Given the description of an element on the screen output the (x, y) to click on. 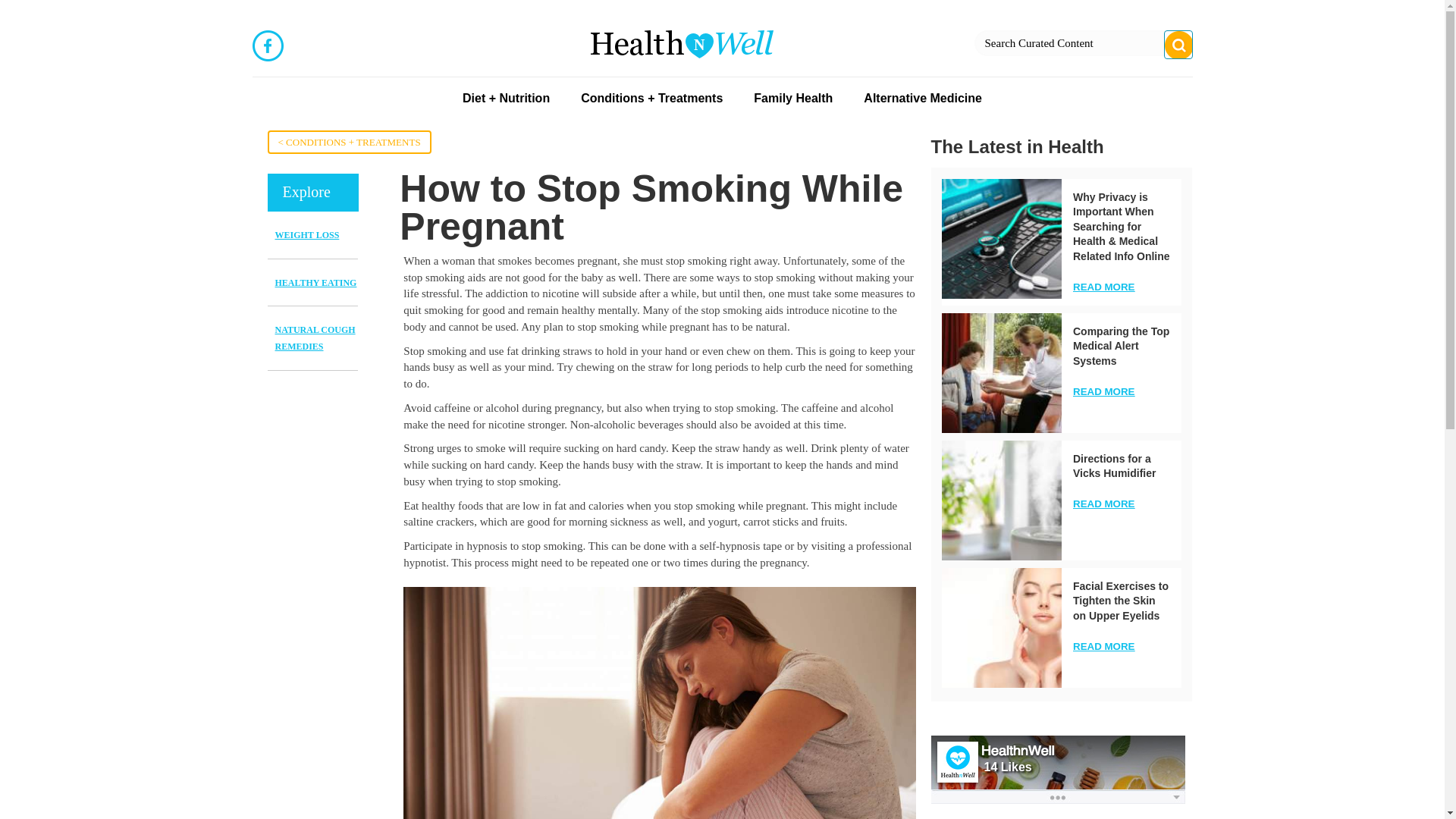
How to Stop Smoking While Pregnant (659, 703)
Comparing the Top Medical Alert Systems (1121, 345)
Directions for a Vicks Humidifier (1114, 465)
READ MORE (1103, 286)
Facial Exercises to Tighten the Skin on Upper Eyelids (1121, 600)
Comparing the Top Medical Alert Systems (1001, 372)
Directions for a Vicks Humidifier (1114, 465)
Facial Exercises to Tighten the Skin on Upper Eyelids (1121, 600)
NATURAL COUGH REMEDIES (315, 338)
READ MORE (1103, 645)
